Given the description of an element on the screen output the (x, y) to click on. 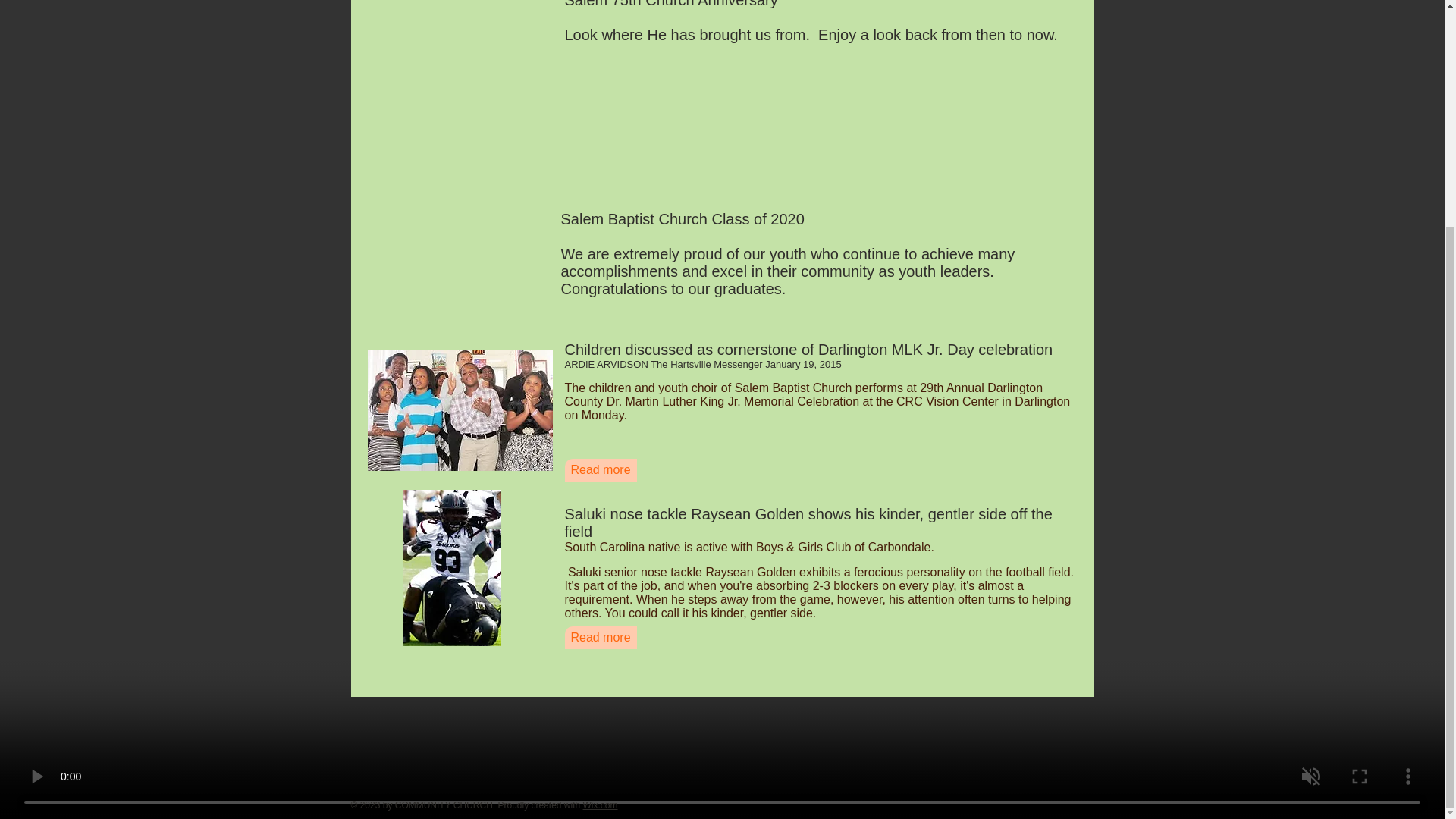
Read more (600, 469)
Children MLK Day.jpg (458, 409)
Wix.com (600, 805)
Read more (600, 637)
